Given the description of an element on the screen output the (x, y) to click on. 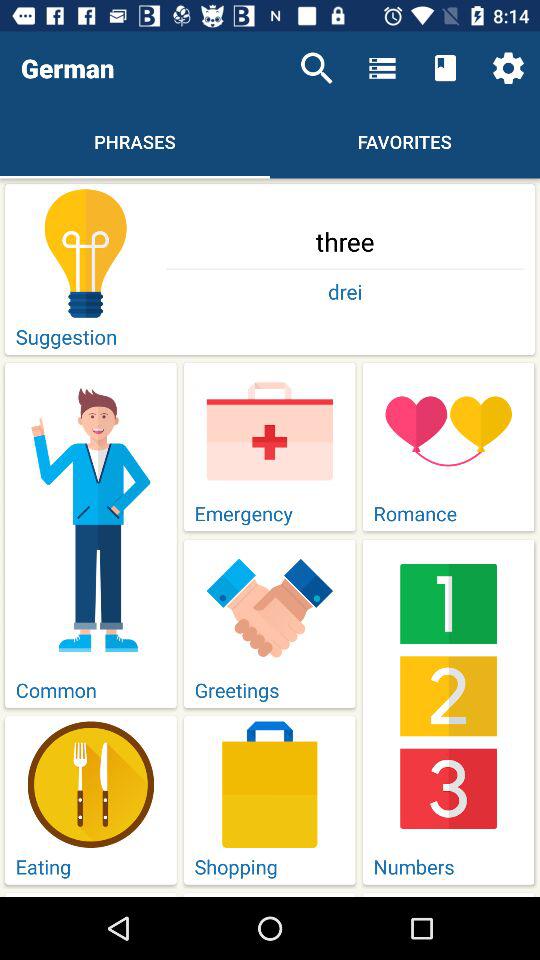
open the item to the right of german (316, 67)
